Given the description of an element on the screen output the (x, y) to click on. 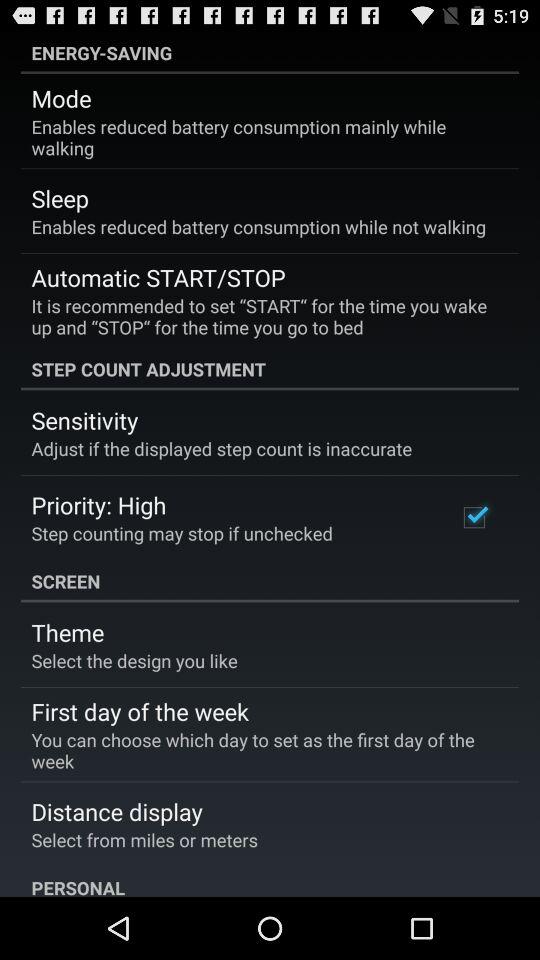
scroll to select the design (134, 660)
